Given the description of an element on the screen output the (x, y) to click on. 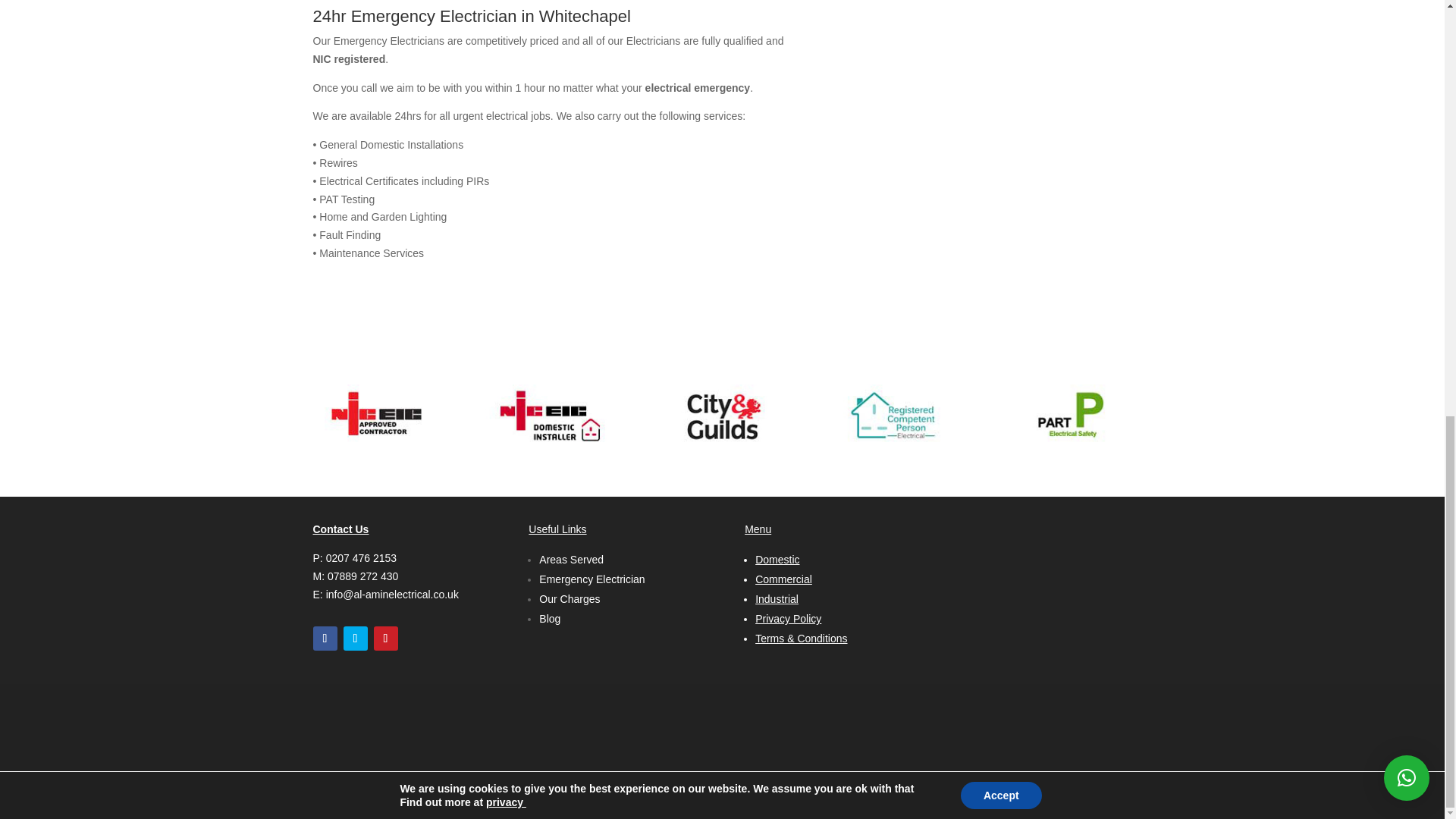
Follow on Pinterest (384, 638)
Whitechapel Al-Amin Electricals (376, 416)
Follow on Facebook (324, 638)
Whitechapel Al-Amin Electricals (1067, 416)
Whitechapel Al-Amin Electricals (894, 416)
Whitechapel Al-Amin Electricals (722, 416)
Whitechapel Al-Amin Electricals (548, 416)
Follow on Twitter (354, 638)
